Given the description of an element on the screen output the (x, y) to click on. 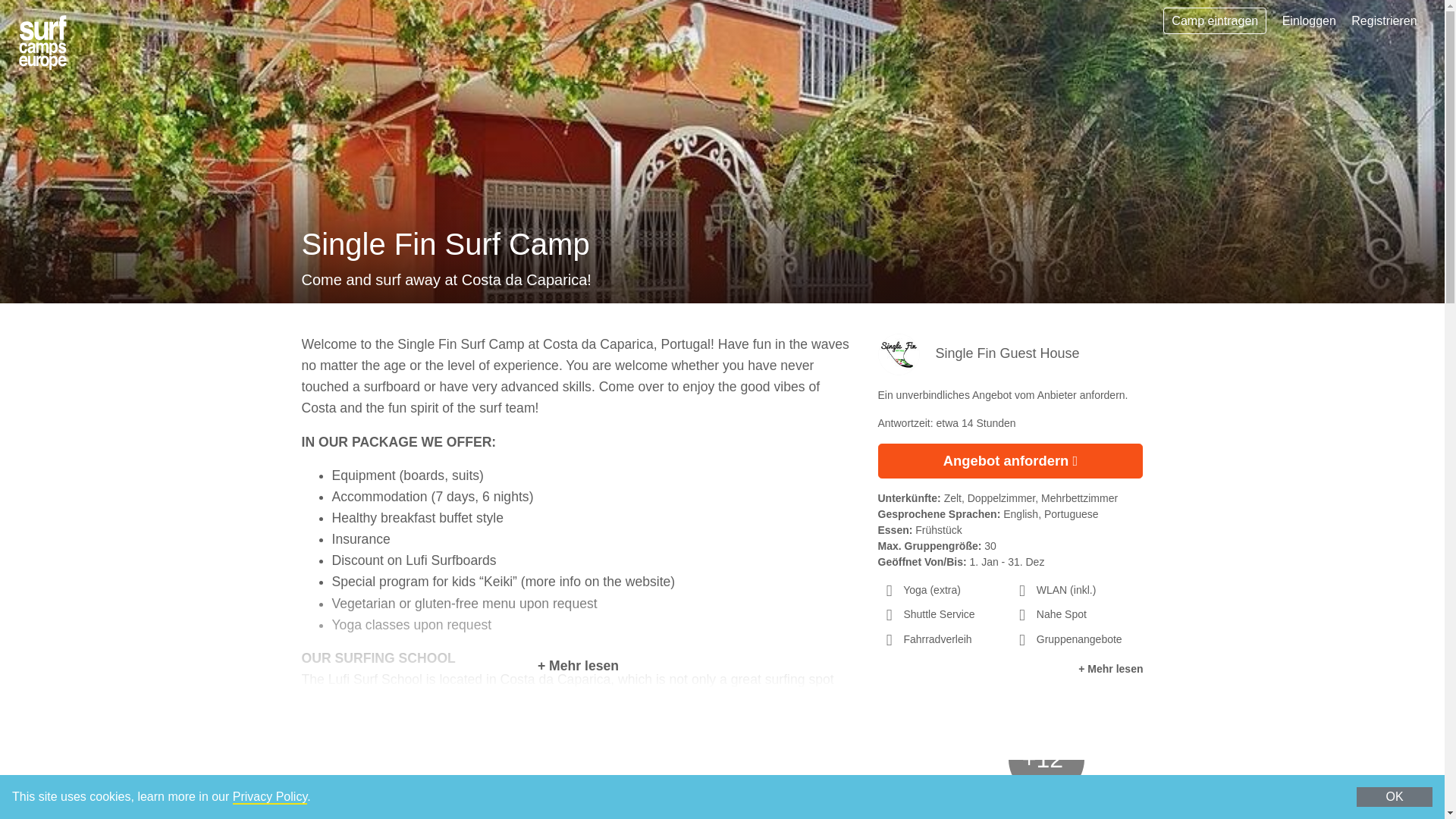
Privacy Policy (269, 797)
OK (1394, 796)
Angebot anfordern (1009, 460)
Registrieren (1383, 20)
Camp eintragen (1214, 20)
Einloggen (1309, 20)
